Given the description of an element on the screen output the (x, y) to click on. 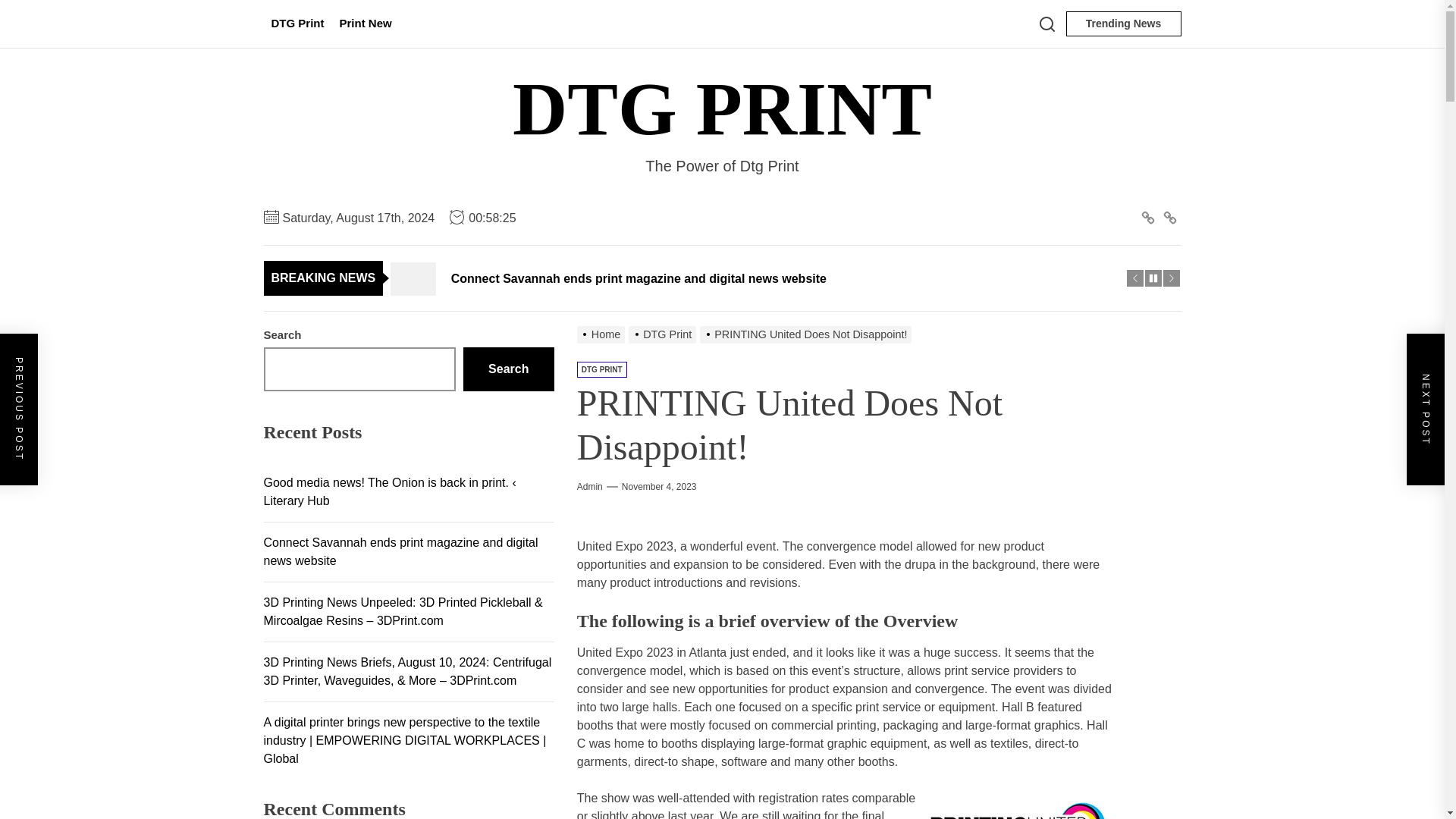
Print New (1169, 218)
Print New (364, 23)
DTG Print (297, 23)
Trending News (1122, 23)
DTG PRINT (721, 108)
DTG Print (1147, 218)
